Given the description of an element on the screen output the (x, y) to click on. 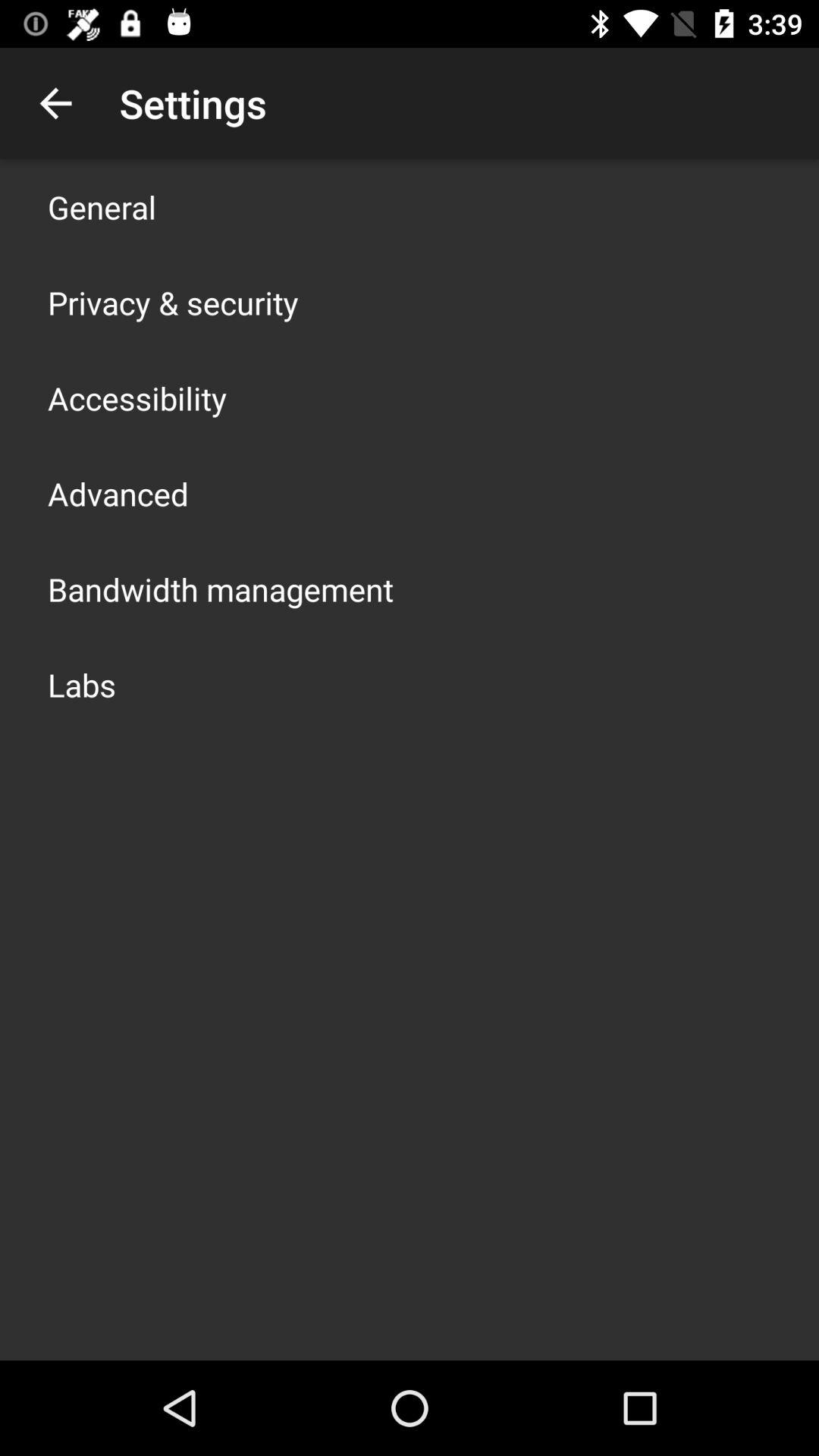
select the app next to the settings icon (55, 103)
